Given the description of an element on the screen output the (x, y) to click on. 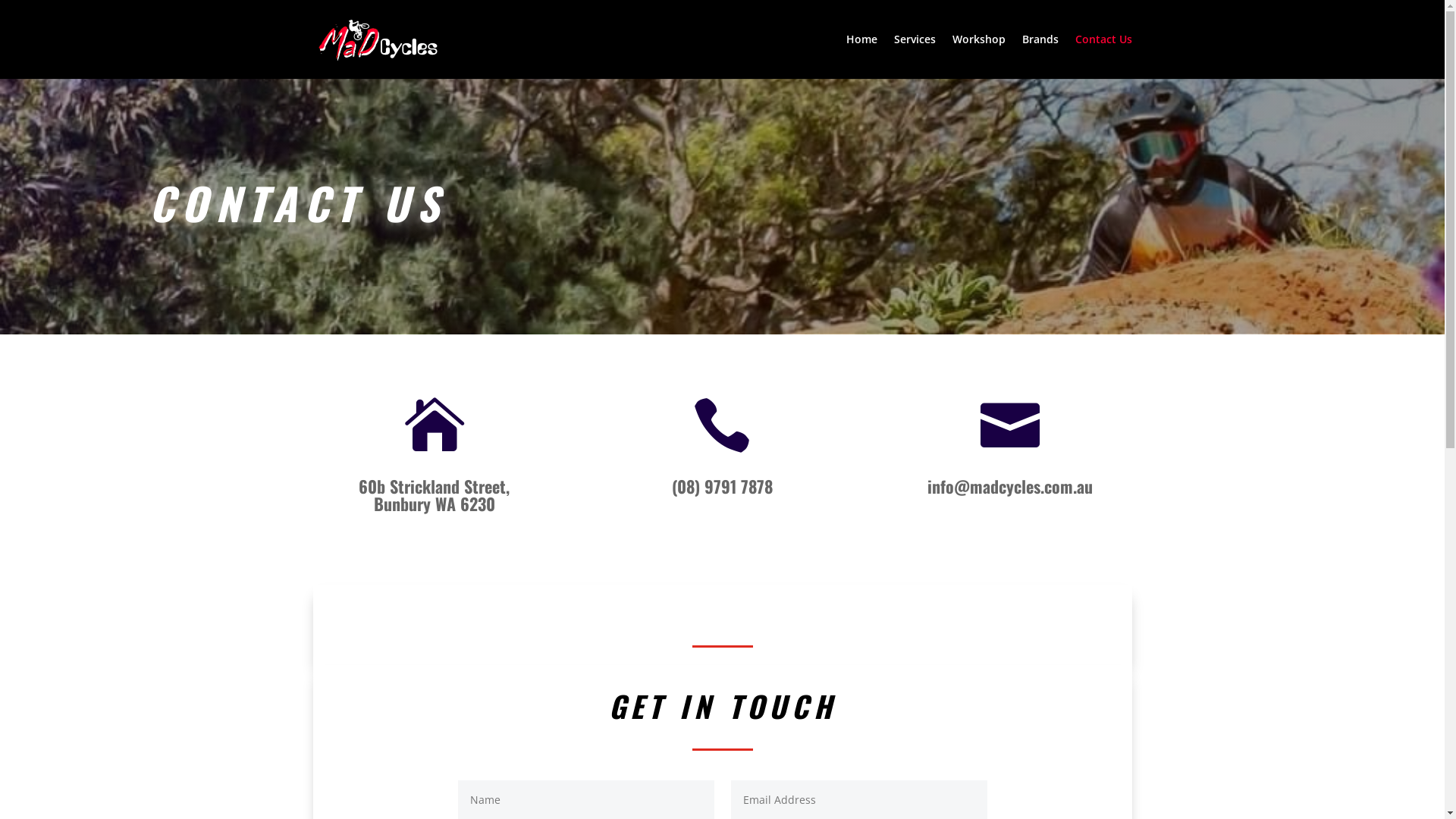
Brands Element type: text (1040, 56)
Workshop Element type: text (978, 56)
Home Element type: text (861, 56)
Contact Us Element type: text (1103, 56)
Services Element type: text (914, 56)
